Given the description of an element on the screen output the (x, y) to click on. 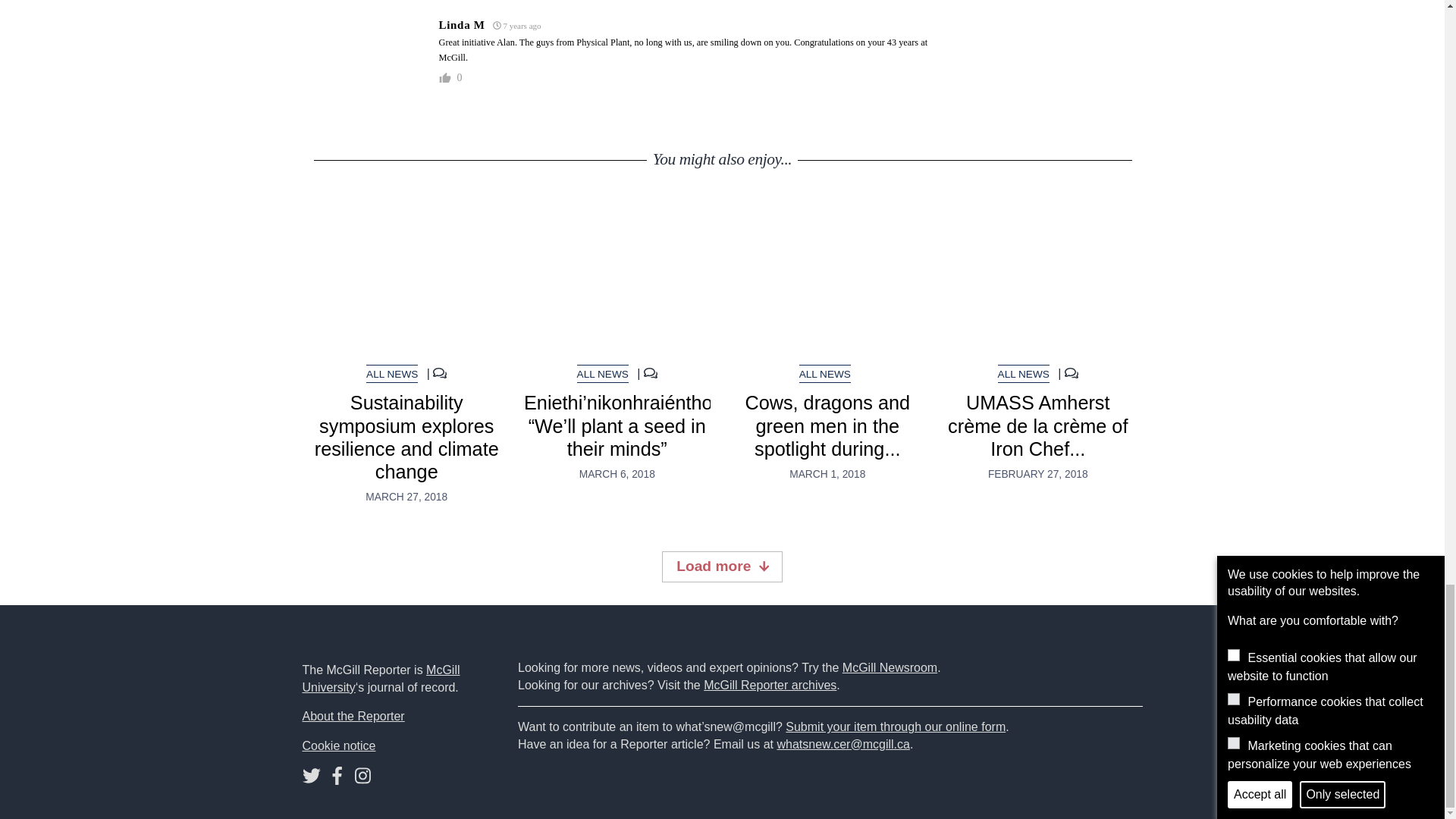
0 (458, 78)
ALL NEWS (824, 374)
Load more (722, 566)
May 23, 2017 9:09 am (516, 25)
ALL NEWS (602, 374)
Cows, dragons and green men in the spotlight during... (827, 425)
ALL NEWS (1023, 374)
Follow us on X (310, 778)
